Given the description of an element on the screen output the (x, y) to click on. 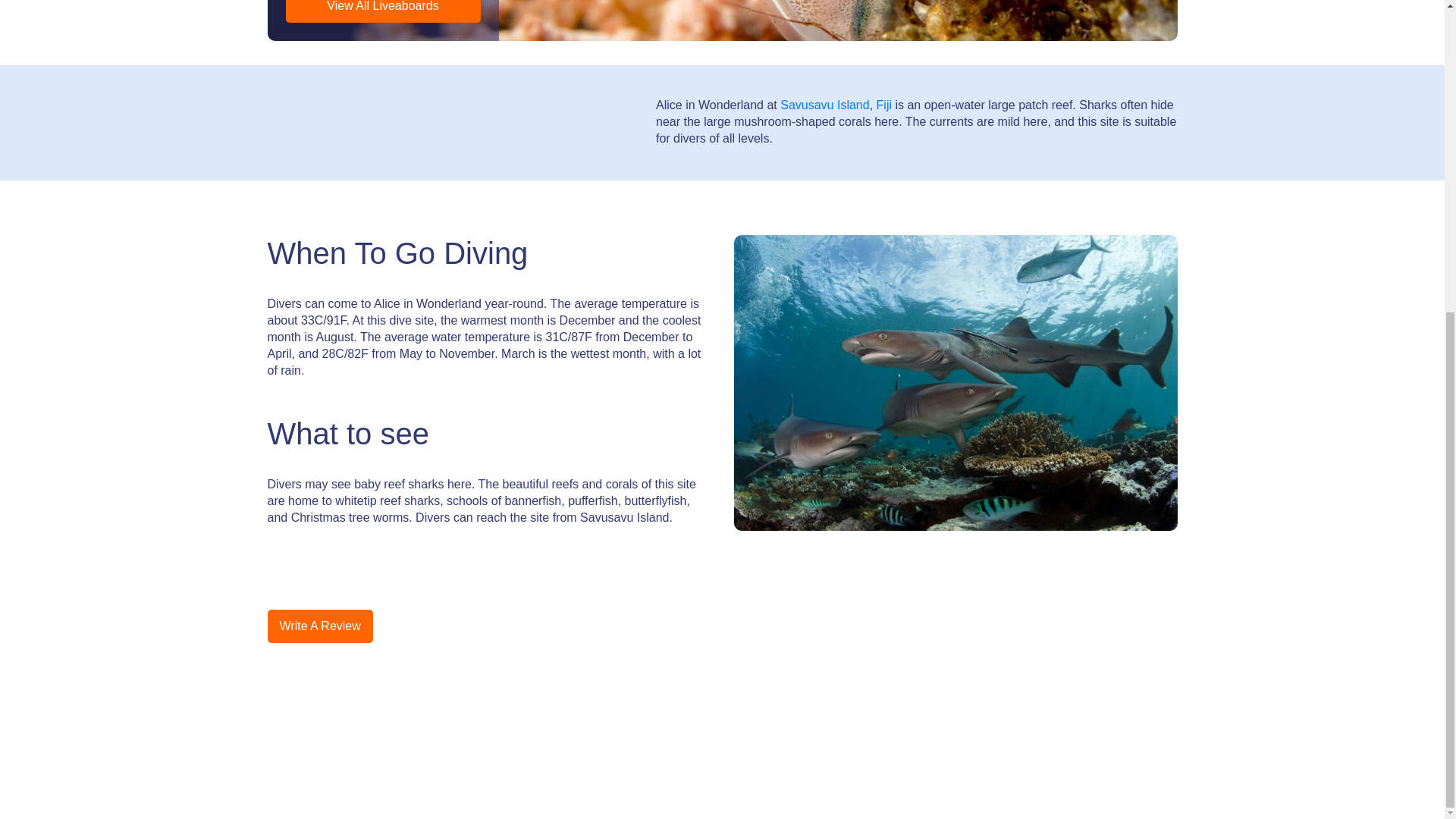
View All Liveaboards (382, 11)
Write A Review (319, 625)
Savusavu Island (824, 104)
Fiji (883, 104)
